Given the description of an element on the screen output the (x, y) to click on. 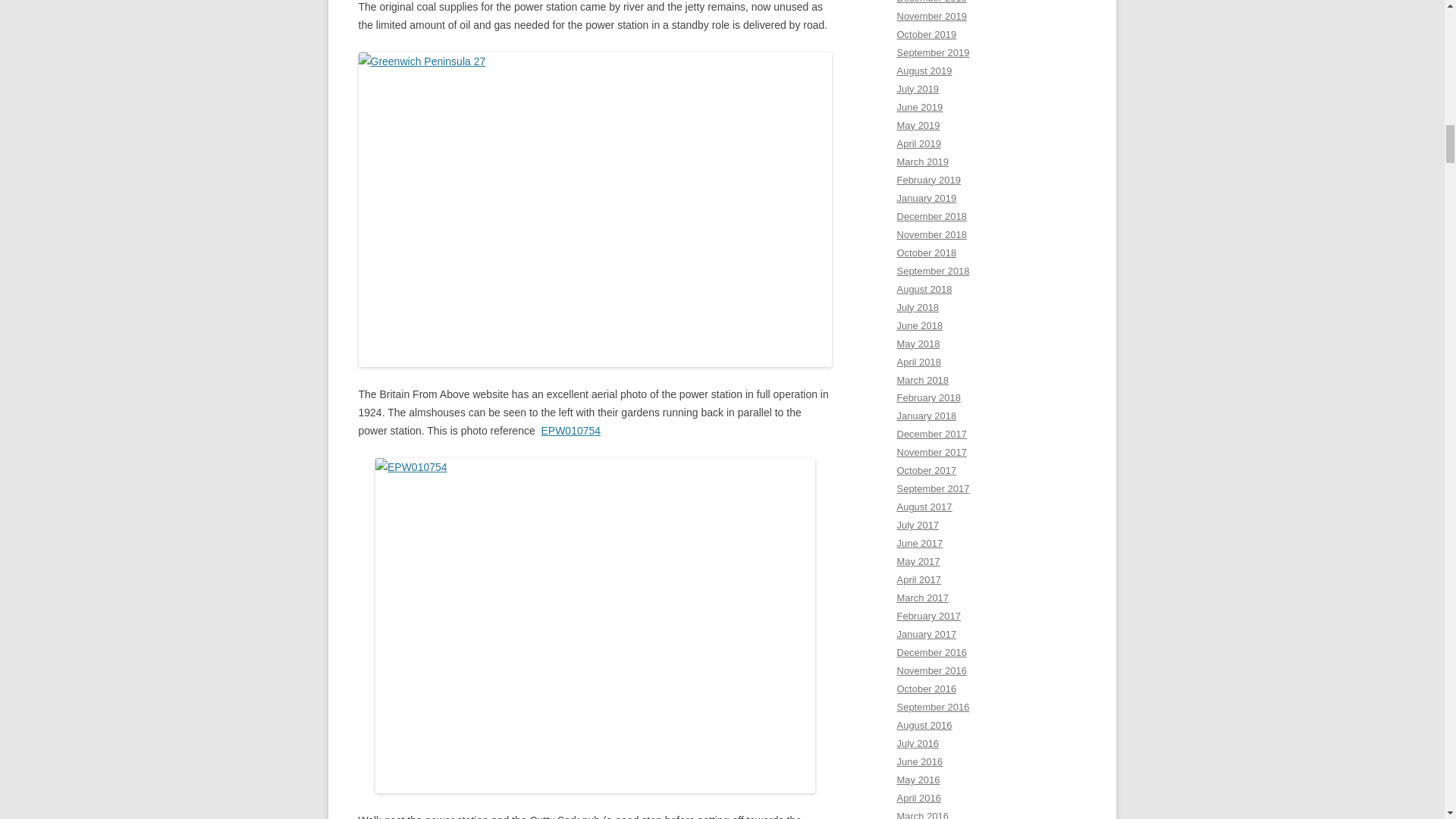
EPW010754 (569, 430)
